Given the description of an element on the screen output the (x, y) to click on. 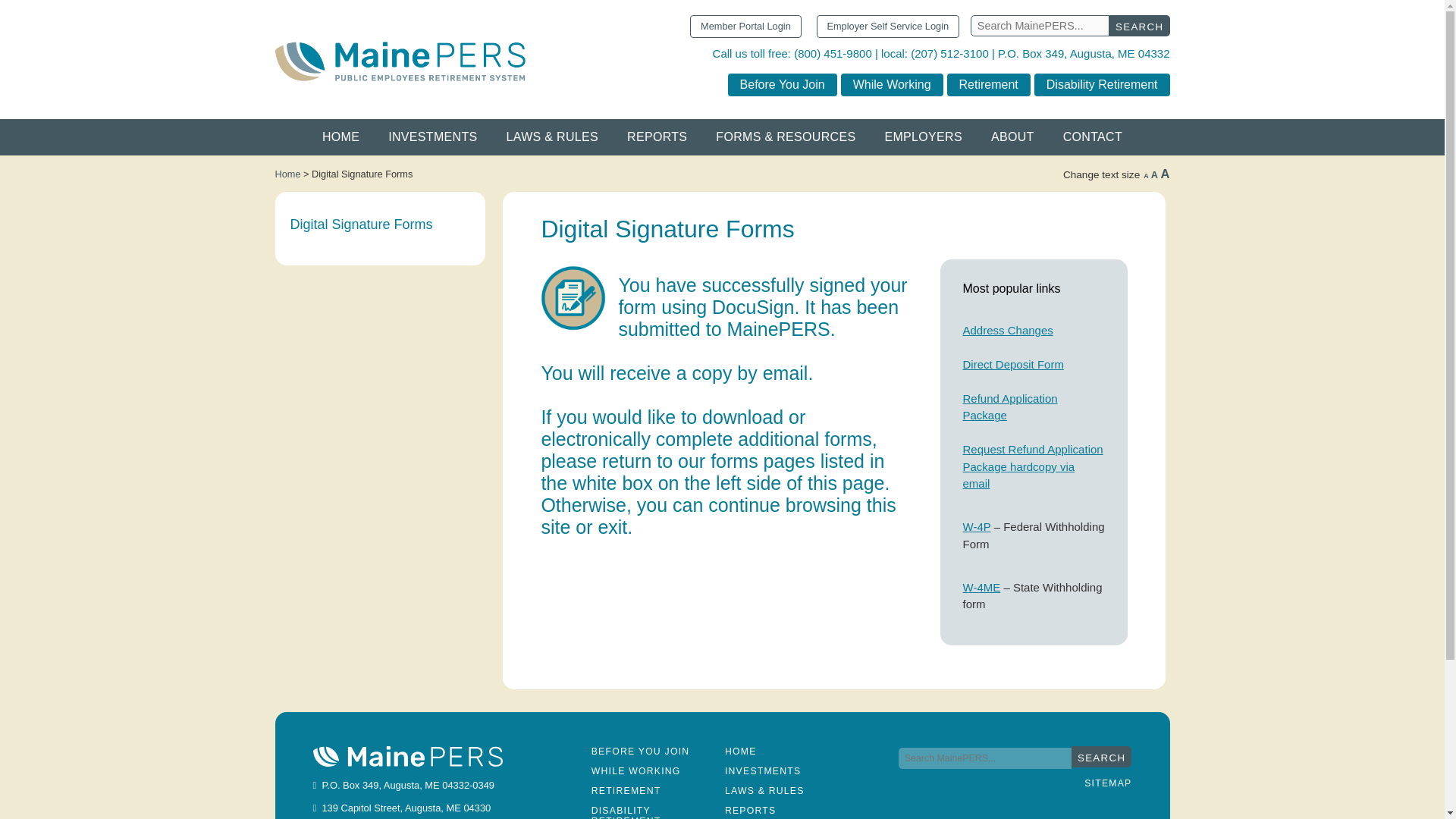
REPORTS (750, 810)
Reset font size (1154, 174)
INVESTMENTS (432, 136)
CONTACT (1092, 136)
WHILE WORKING (636, 770)
Decrease font size (1145, 175)
Home (1145, 175)
REPORTS (287, 173)
While Working (657, 136)
Employer Self Service Login (892, 83)
Disability Retirement (887, 26)
BEFORE YOU JOIN (1101, 83)
ABOUT (640, 751)
Member Portal Login (1012, 136)
